Given the description of an element on the screen output the (x, y) to click on. 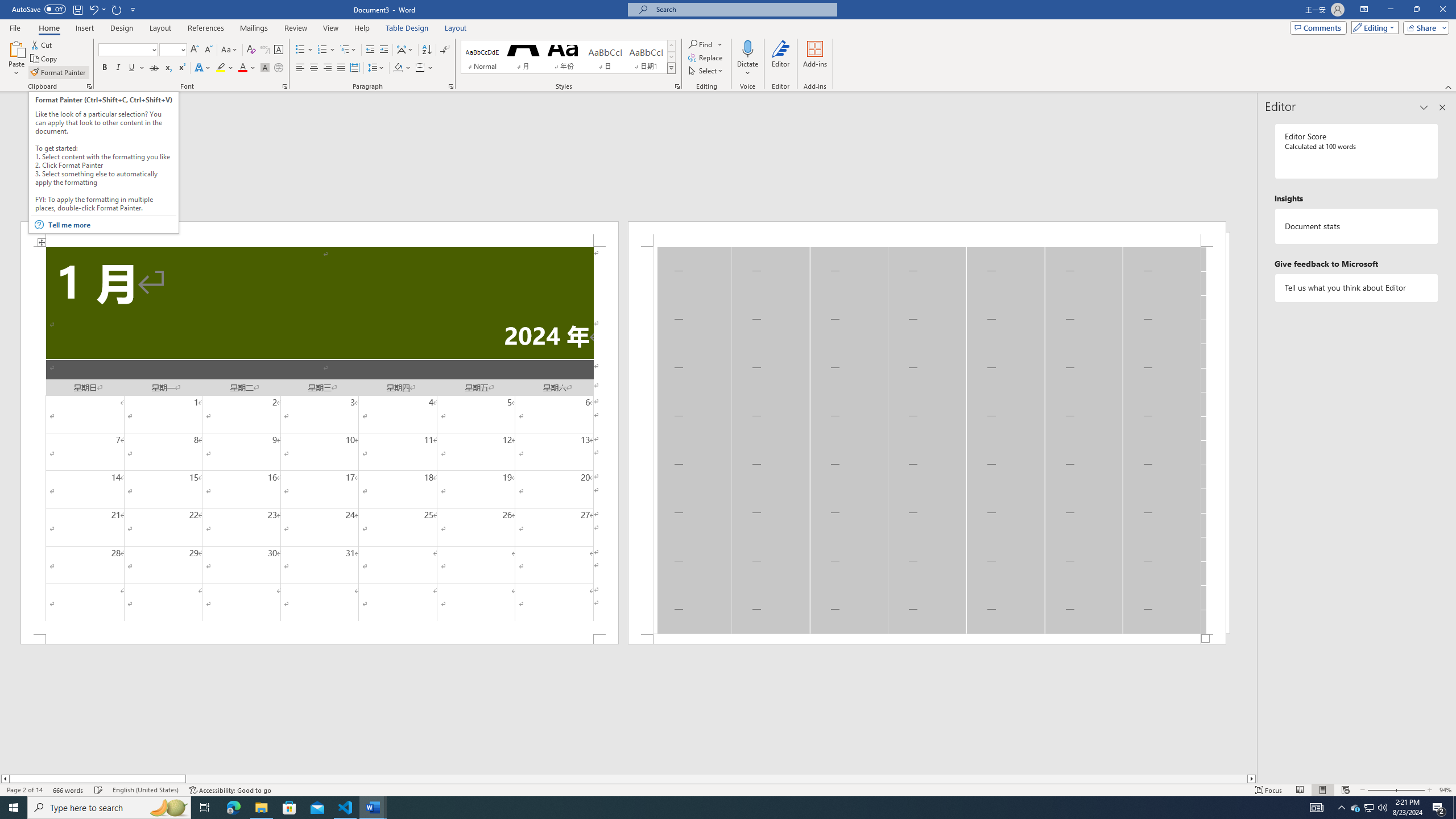
AutomationID: QuickStylesGallery (568, 56)
Word Count 666 words (68, 790)
Row Down (670, 56)
Text Effects and Typography (202, 67)
Copy (45, 58)
Page 2 content (926, 439)
Subscript (167, 67)
